Given the description of an element on the screen output the (x, y) to click on. 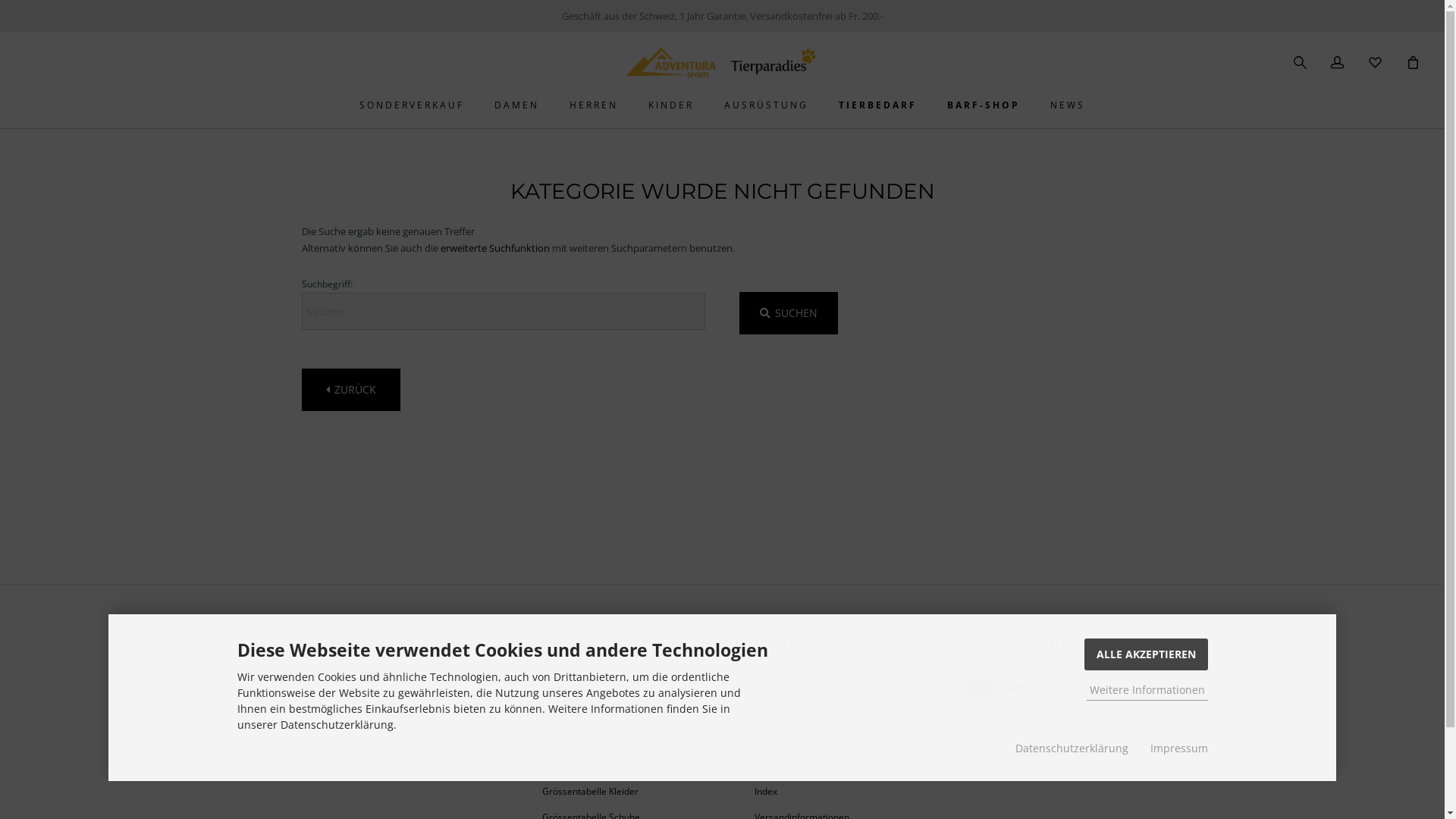
erweiterte Suchfunktion Element type: text (494, 247)
NEWS Element type: text (1067, 104)
Warenkorb Element type: hover (1413, 62)
KINDER Element type: text (671, 104)
Impressum Element type: text (827, 765)
Anmelden Element type: hover (1336, 64)
Startseite Tierparadies Adventura Sports AG Element type: hover (722, 74)
Unsere Filialen Element type: text (615, 765)
SONDERVERKAUF Element type: text (411, 104)
Suche Element type: hover (1305, 64)
Impressum Element type: text (1178, 748)
AGB Element type: text (827, 740)
Datenschutz Element type: text (827, 714)
Index Element type: text (827, 791)
Weitere Informationen Element type: text (1146, 689)
TIERBEDARF Element type: text (877, 104)
Lieferzeit Element type: text (615, 740)
Kontakt Element type: text (615, 688)
HERREN Element type: text (593, 104)
ALLE AKZEPTIEREN Element type: text (1146, 654)
Versandkosten Element type: text (827, 688)
DAMEN Element type: text (516, 104)
BARF-SHOP Element type: text (983, 104)
